Given the description of an element on the screen output the (x, y) to click on. 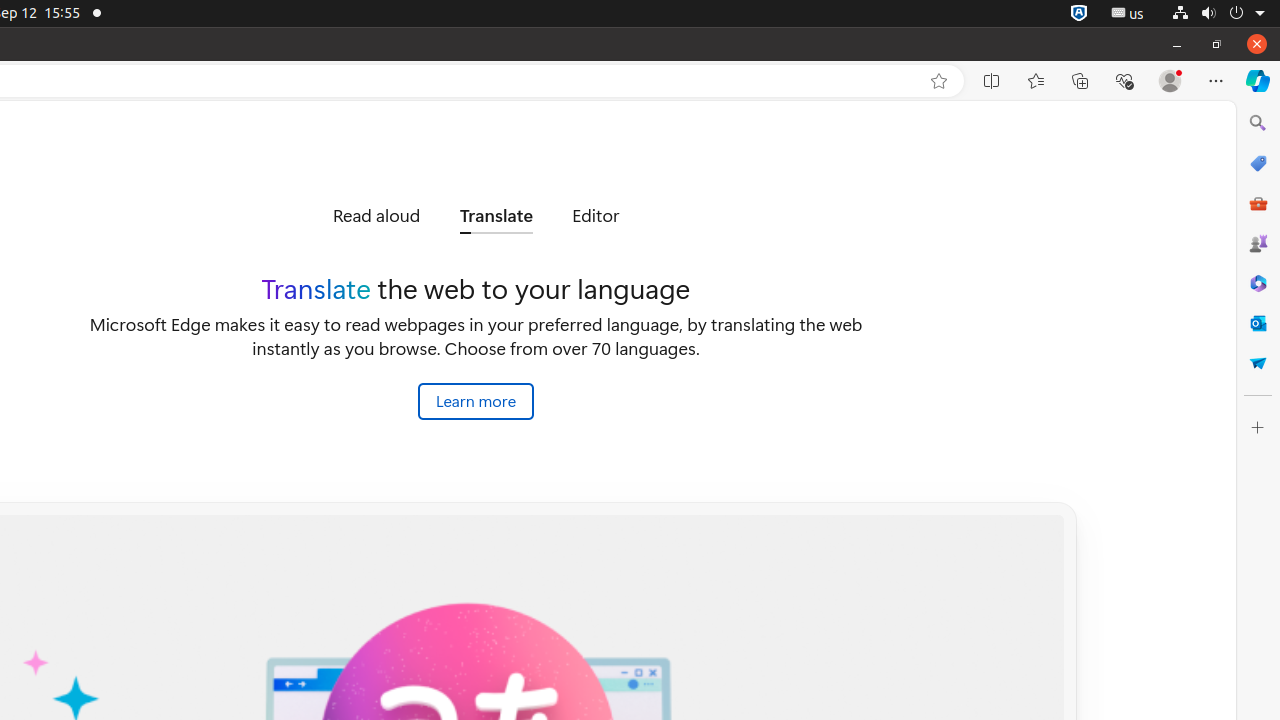
Copilot (Ctrl+Shift+.) Element type: push-button (1258, 81)
Outlook Element type: push-button (1258, 323)
Microsoft 365 Element type: push-button (1258, 283)
Microsoft Shopping Element type: push-button (1258, 163)
Browser essentials Element type: push-button (1124, 81)
